Given the description of an element on the screen output the (x, y) to click on. 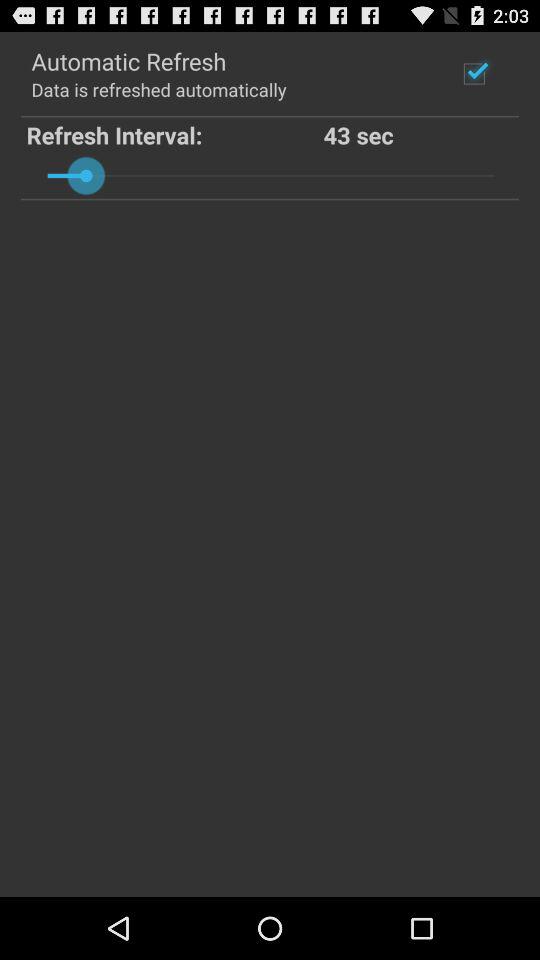
tap refresh interval: (174, 134)
